Given the description of an element on the screen output the (x, y) to click on. 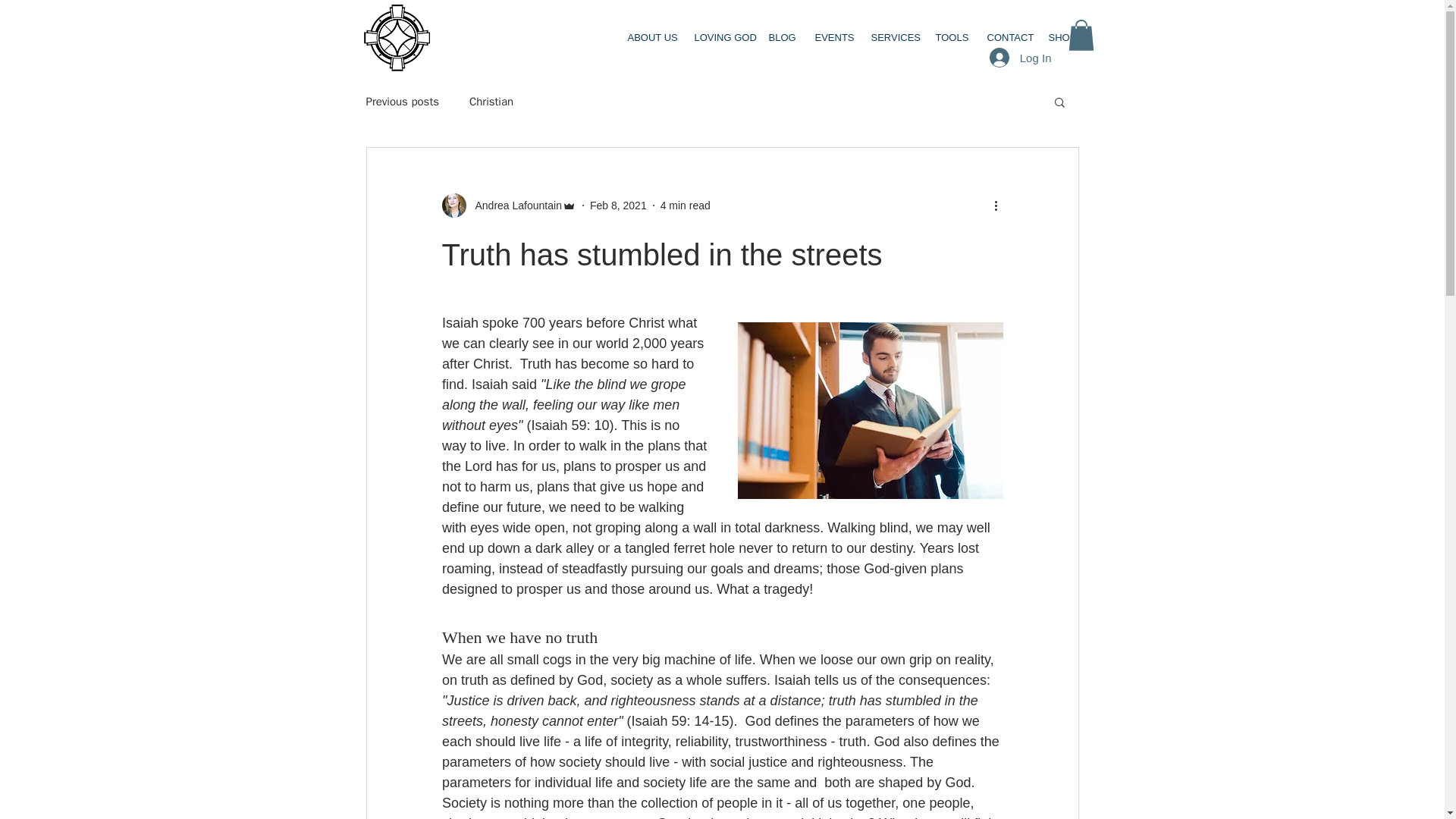
TOOLS (949, 37)
SHOP (1060, 37)
Feb 8, 2021 (617, 204)
Cropped circle logo.png (396, 38)
Andrea Lafountain (508, 205)
CONTACT (1005, 37)
Christian (490, 101)
Andrea Lafountain (512, 204)
SERVICES (892, 37)
EVENTS (831, 37)
Previous posts (401, 101)
BLOG (780, 37)
4 min read (685, 204)
Log In (1020, 57)
LOVING GOD (719, 37)
